Given the description of an element on the screen output the (x, y) to click on. 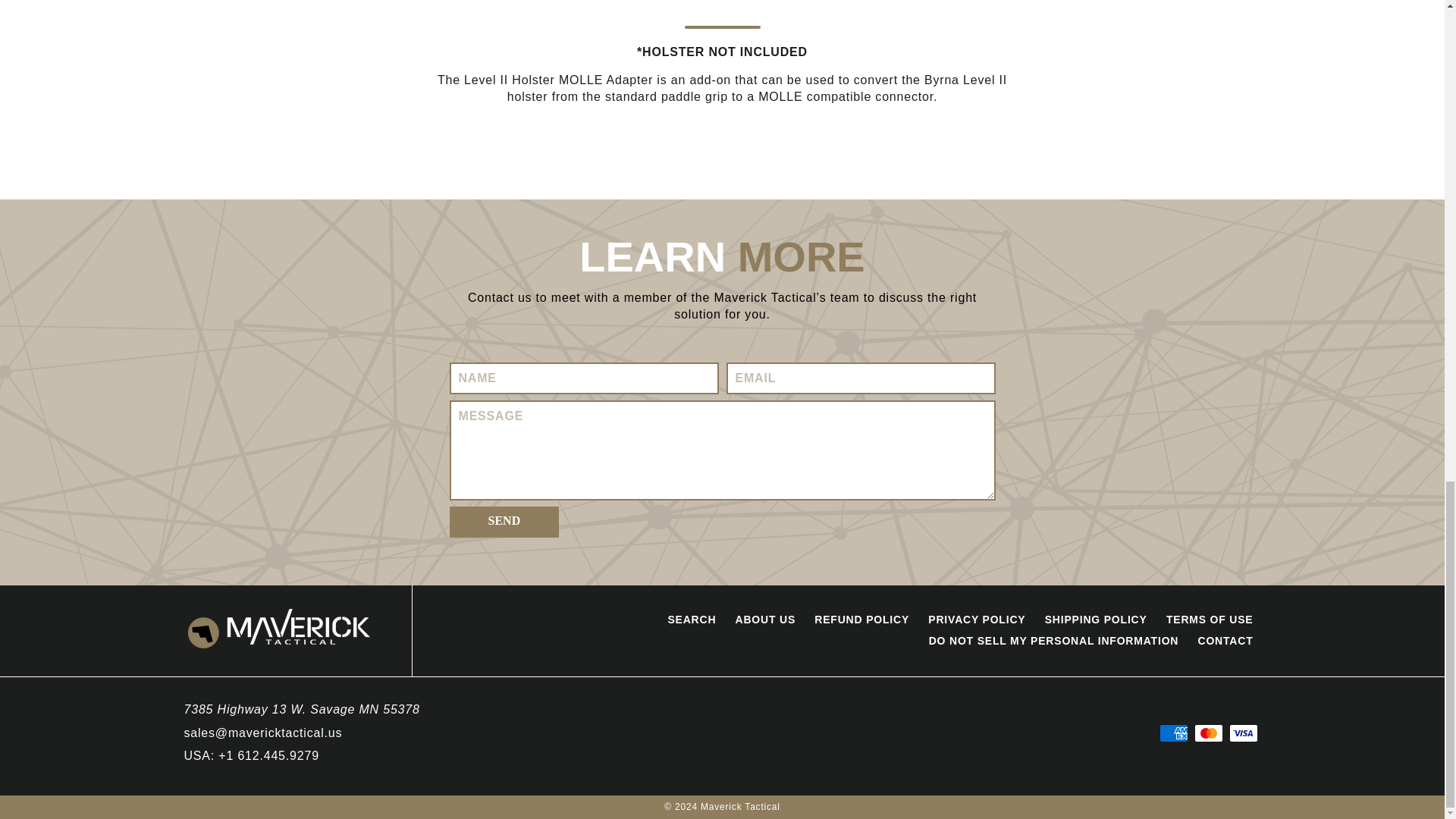
Visa (1242, 732)
American Express (1173, 732)
Mastercard (1208, 732)
